Given the description of an element on the screen output the (x, y) to click on. 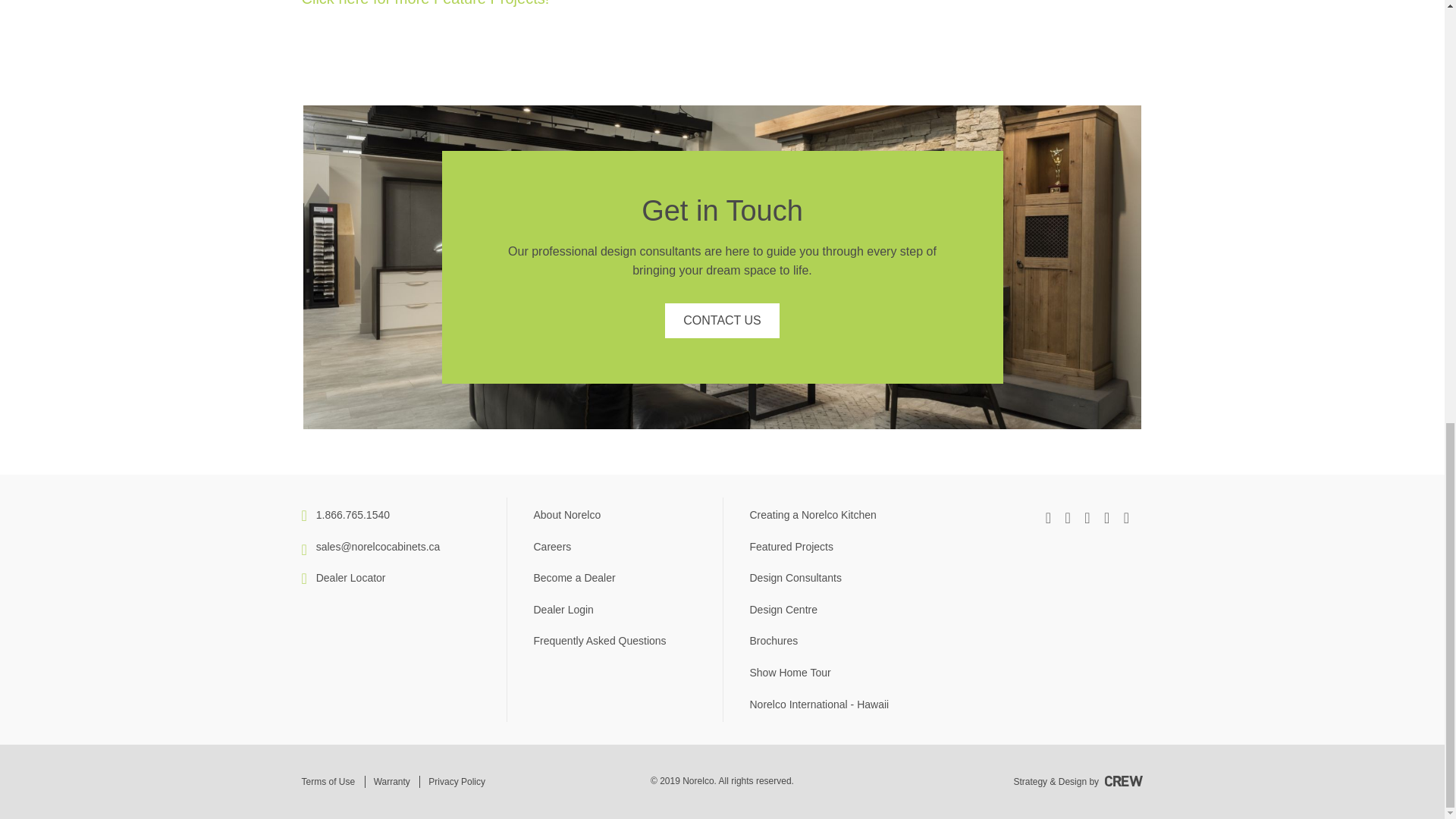
Click here for more Feature Projects! (425, 3)
